Given the description of an element on the screen output the (x, y) to click on. 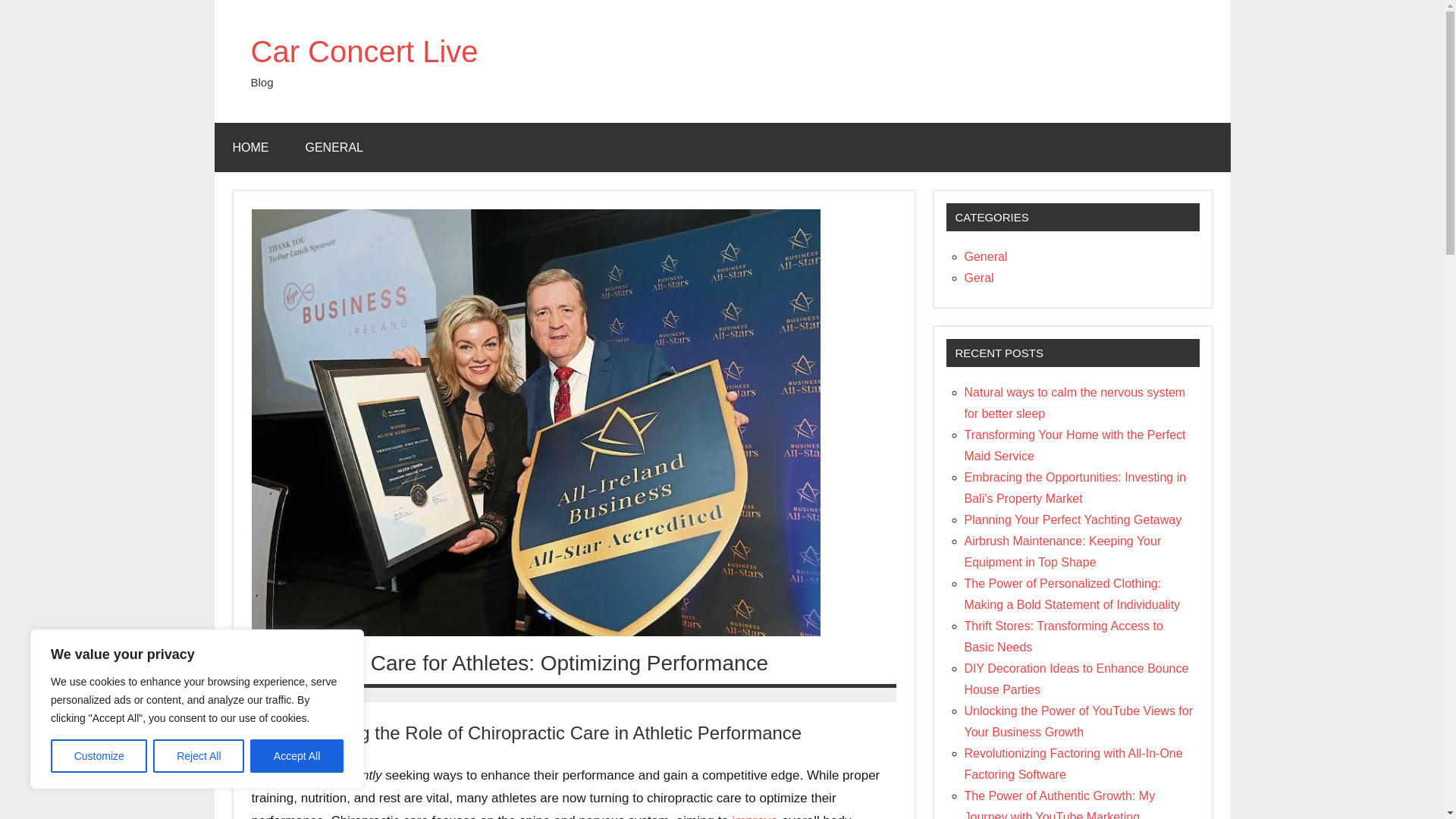
Reject All (198, 756)
Geral (978, 277)
Planning Your Perfect Yachting Getaway (1072, 519)
HOME (250, 146)
improve (754, 816)
Car Concert Live (363, 51)
Transforming Your Home with the Perfect Maid Service (1074, 445)
Natural ways to calm the nervous system for better sleep (1074, 402)
Thrift Stores: Transforming Access to Basic Needs (1063, 636)
General (985, 256)
Customize (98, 756)
Accept All (296, 756)
GENERAL (333, 146)
Airbrush Maintenance: Keeping Your Equipment in Top Shape (1062, 551)
